Given the description of an element on the screen output the (x, y) to click on. 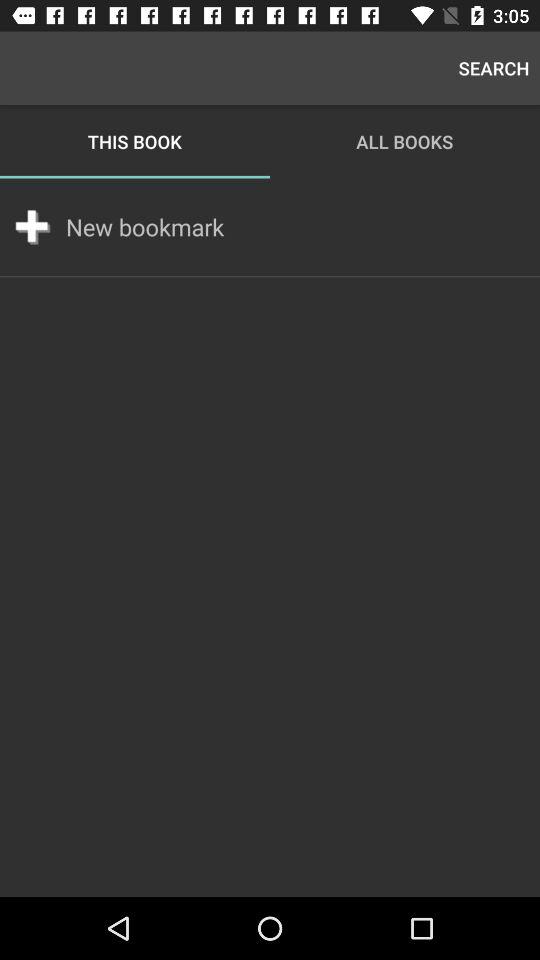
press the app to the left of new bookmark icon (32, 226)
